Given the description of an element on the screen output the (x, y) to click on. 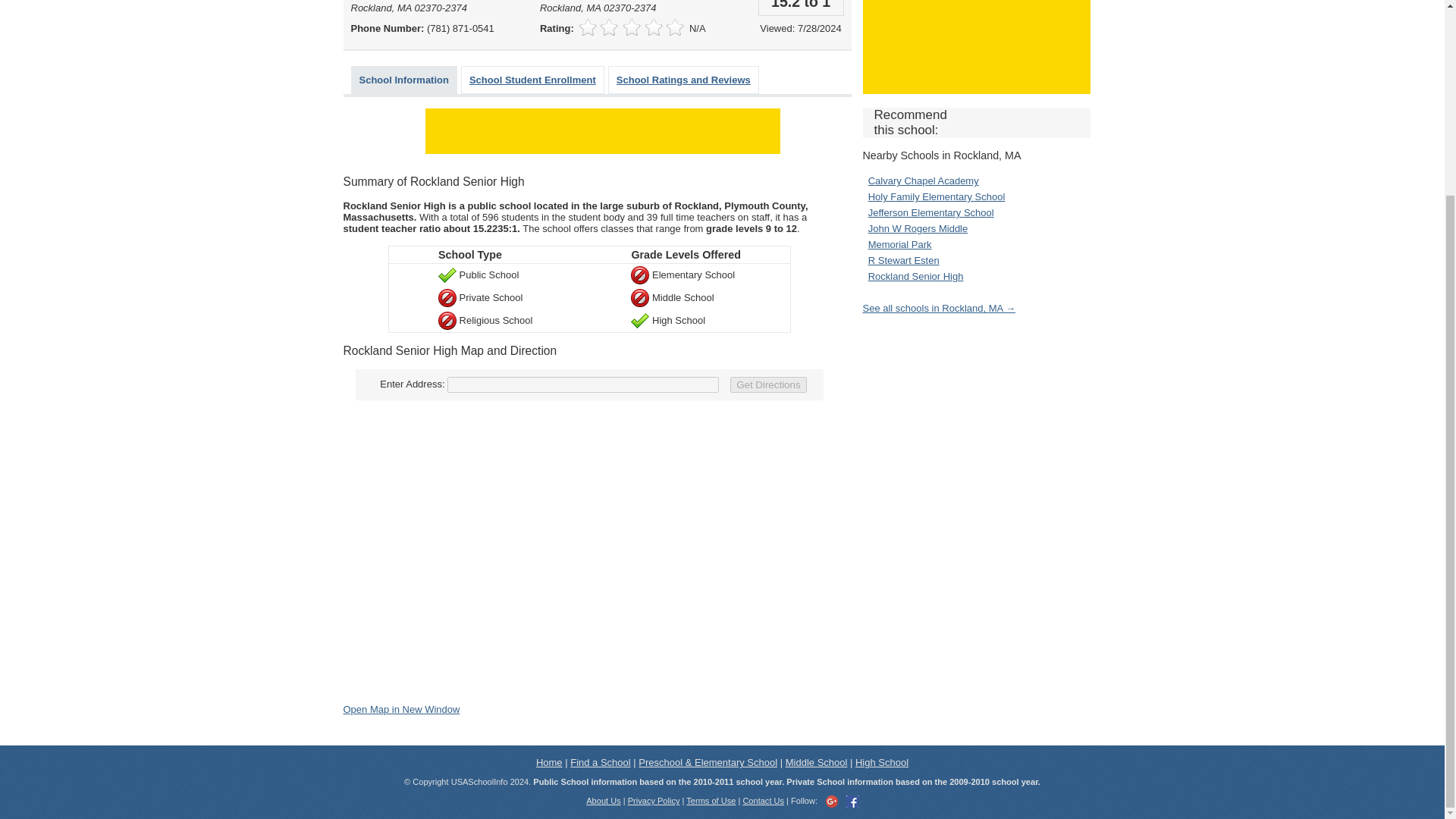
Contact Us (763, 800)
John W Rogers Middle (917, 228)
Middle School (816, 762)
Get Directions (768, 384)
School Student Enrollment (532, 80)
About Us (603, 800)
Open Map in New Window (401, 708)
School Information (403, 80)
Find a School (600, 762)
Holy Family Elementary School (936, 196)
R Stewart Esten (903, 260)
Calvary Chapel Academy (922, 180)
Browse All Rockland Schools in Massachusetts (939, 307)
